Given the description of an element on the screen output the (x, y) to click on. 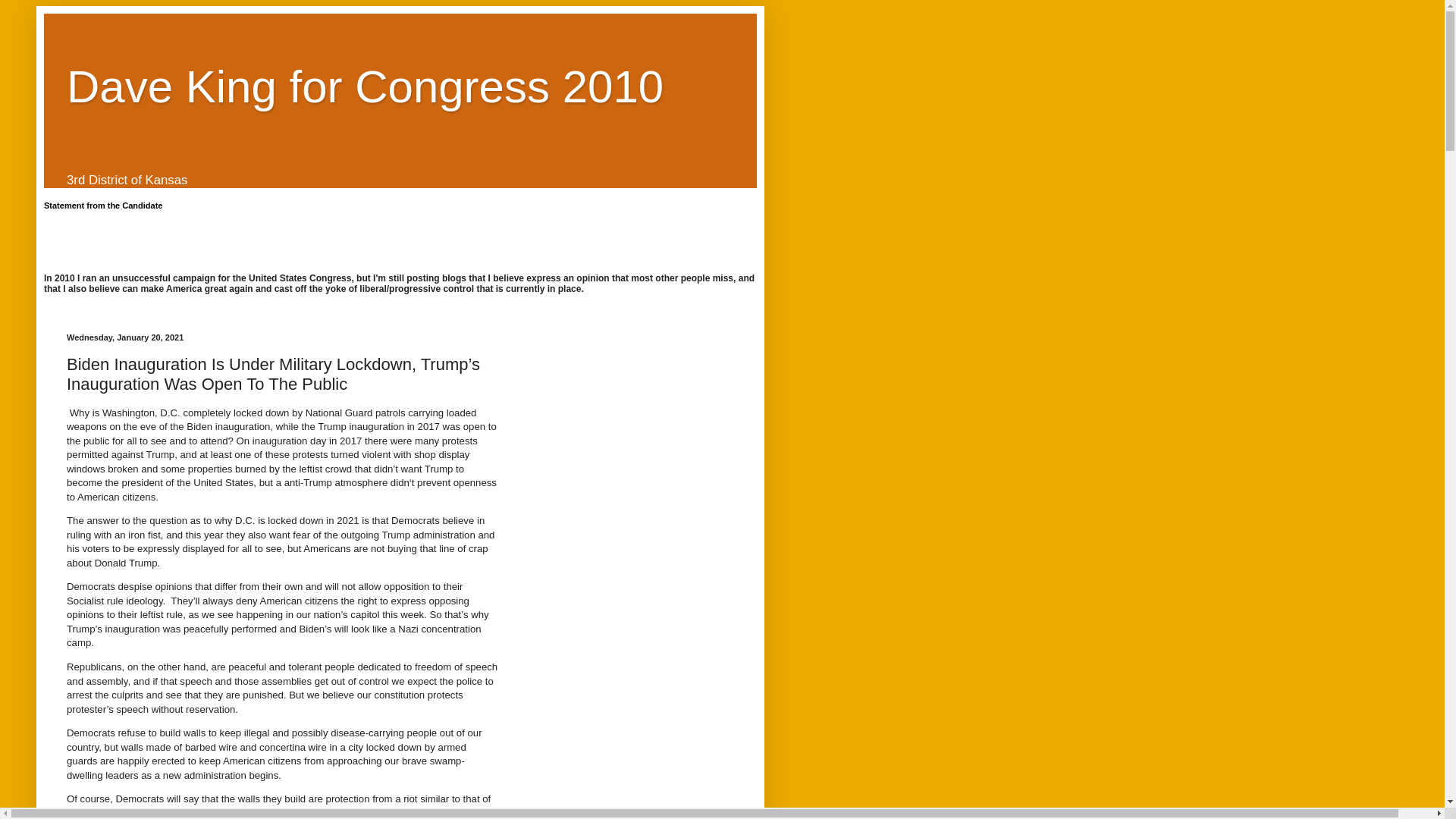
Dave King for Congress 2010 (364, 86)
